Given the description of an element on the screen output the (x, y) to click on. 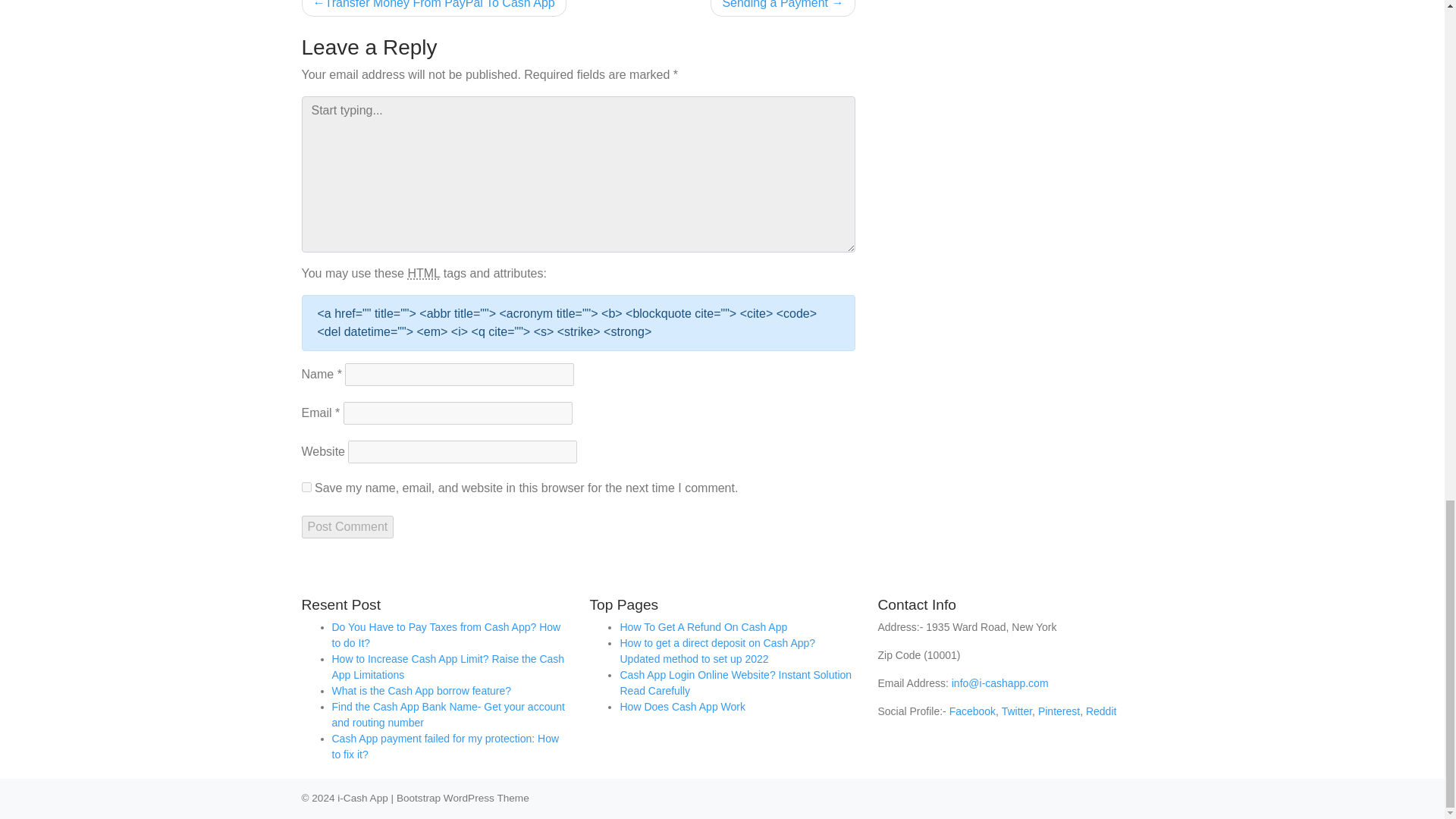
yes (306, 487)
Transfer Money From PayPal To Cash App (433, 8)
Post Comment (347, 526)
Sending a Payment (782, 8)
Post Comment (347, 526)
